Given the description of an element on the screen output the (x, y) to click on. 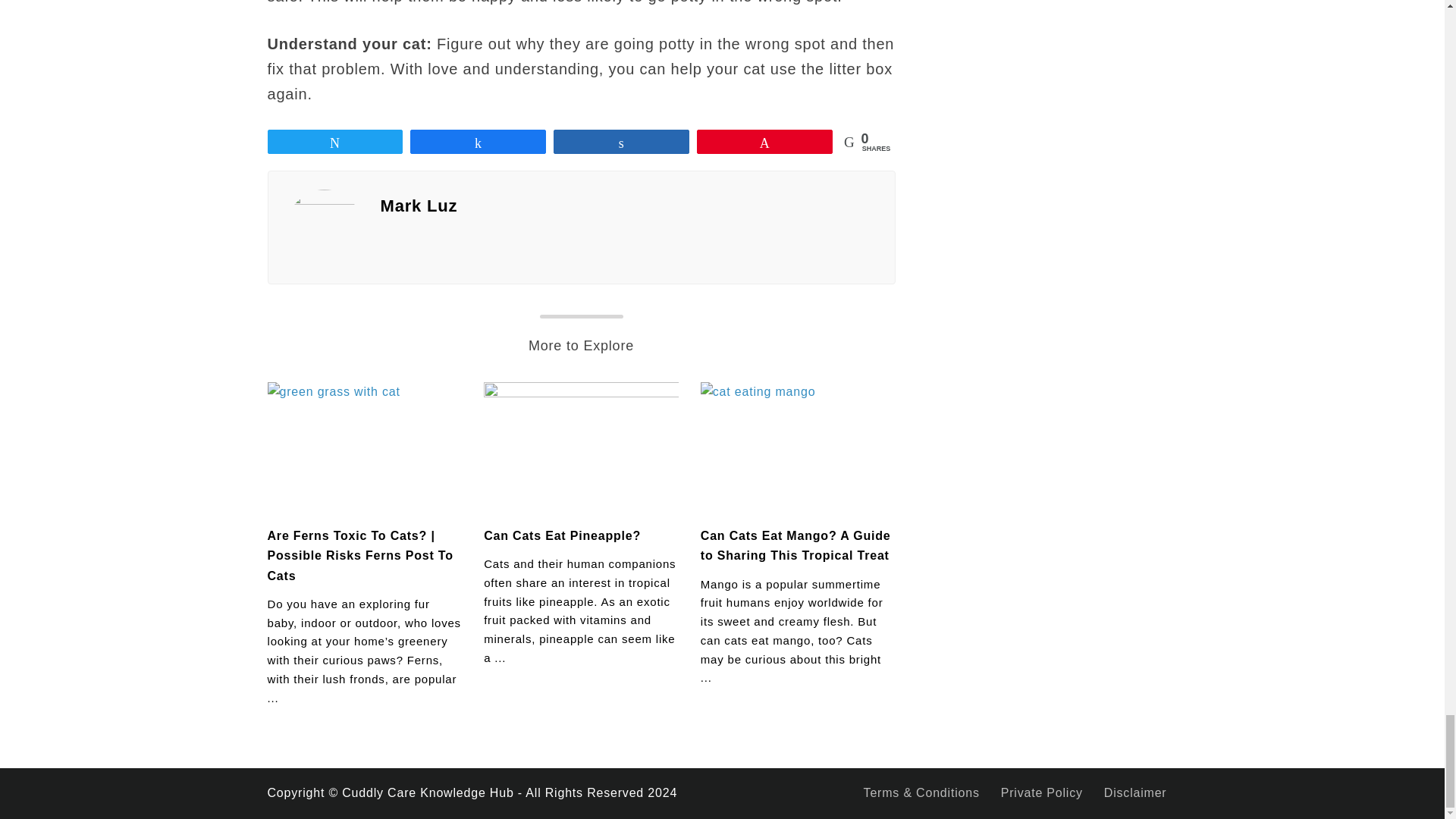
Mark Luz (628, 206)
Can Cats Eat Pineapple? (561, 535)
Can Cats Eat Mango? A Guide to Sharing This Tropical Treat (795, 545)
link to Can Cats Eat Pineapple? (580, 447)
